Given the description of an element on the screen output the (x, y) to click on. 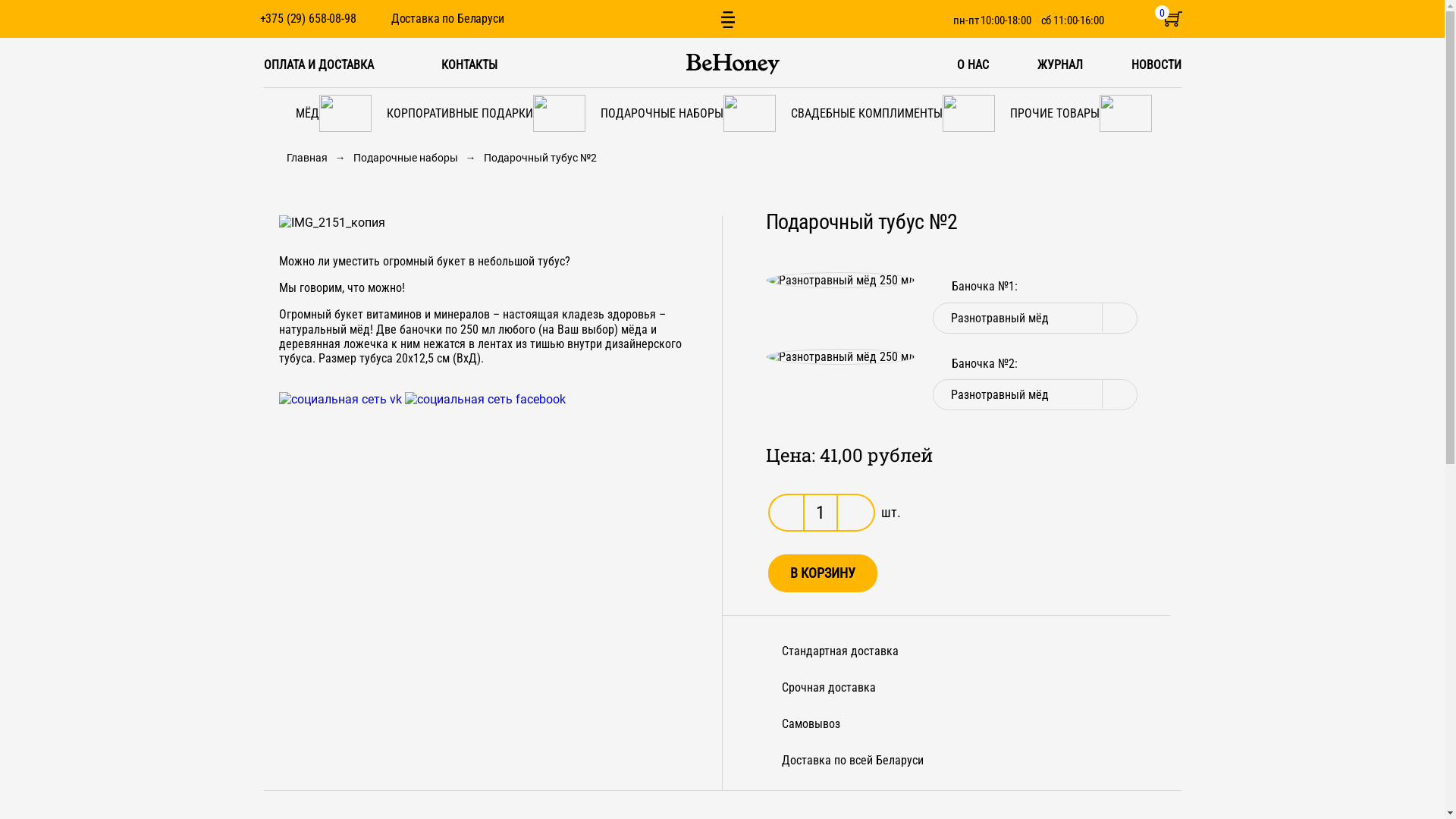
+375 (29) 658-08-98 Element type: text (307, 18)
0 Element type: text (1172, 20)
